Given the description of an element on the screen output the (x, y) to click on. 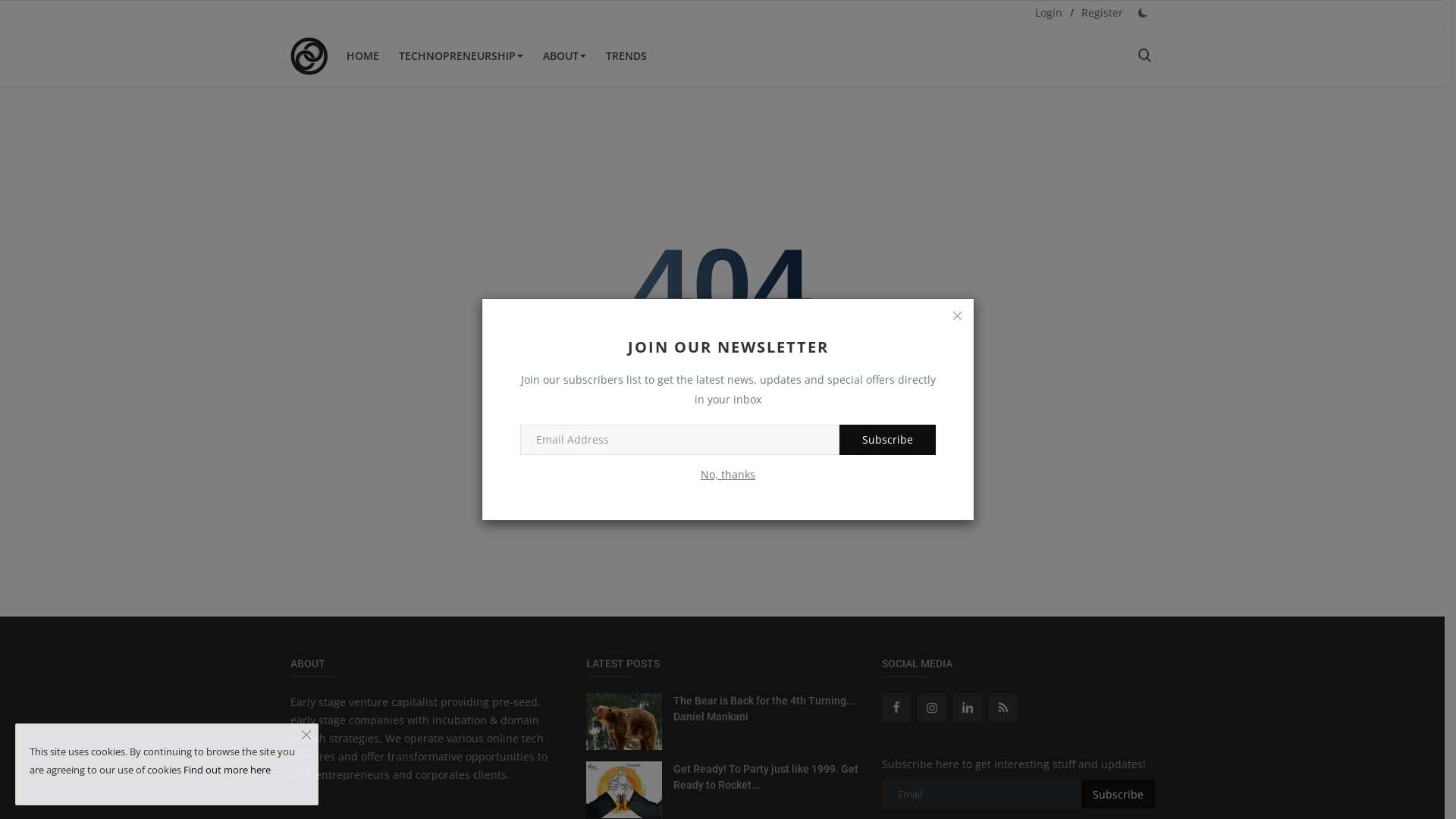
Get Ready! To Party just like 1999. Get Ready to Rocket... Element type: text (766, 777)
Find out more here Element type: text (226, 769)
dark Element type: text (29, 314)
Login Element type: text (1047, 12)
HOME Element type: text (362, 55)
dark Element type: text (1141, 12)
No, thanks Element type: text (727, 474)
Register Element type: text (1101, 12)
The Bear is Back for the 4th Turning... Daniel Mankani Element type: text (766, 708)
Subscribe Element type: text (887, 439)
Subscribe Element type: text (1117, 793)
ABOUT Element type: text (564, 55)
TRENDS Element type: text (626, 55)
TECHNOPRENEURSHIP Element type: text (460, 55)
